Given the description of an element on the screen output the (x, y) to click on. 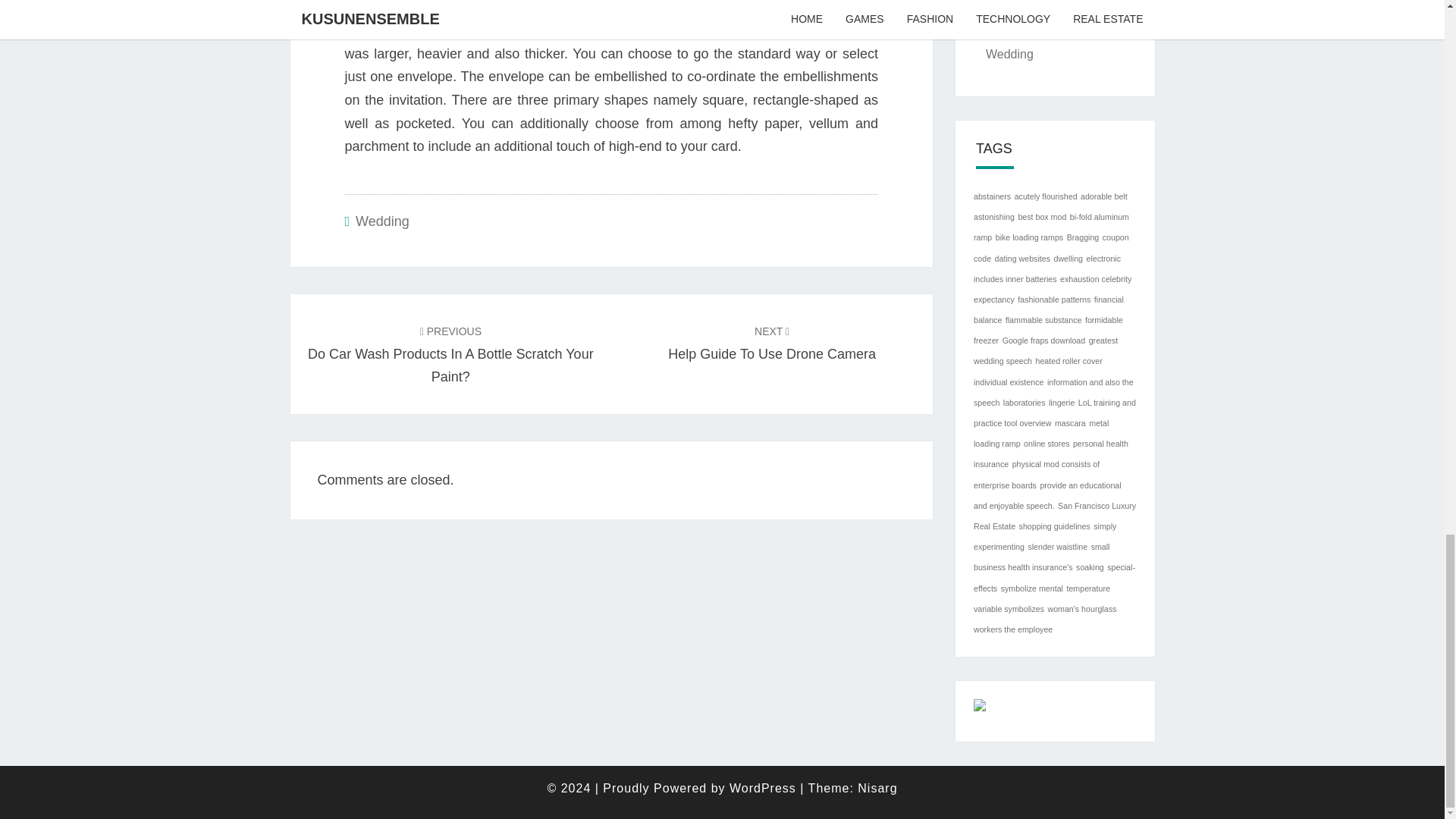
Wedding (772, 341)
